Given the description of an element on the screen output the (x, y) to click on. 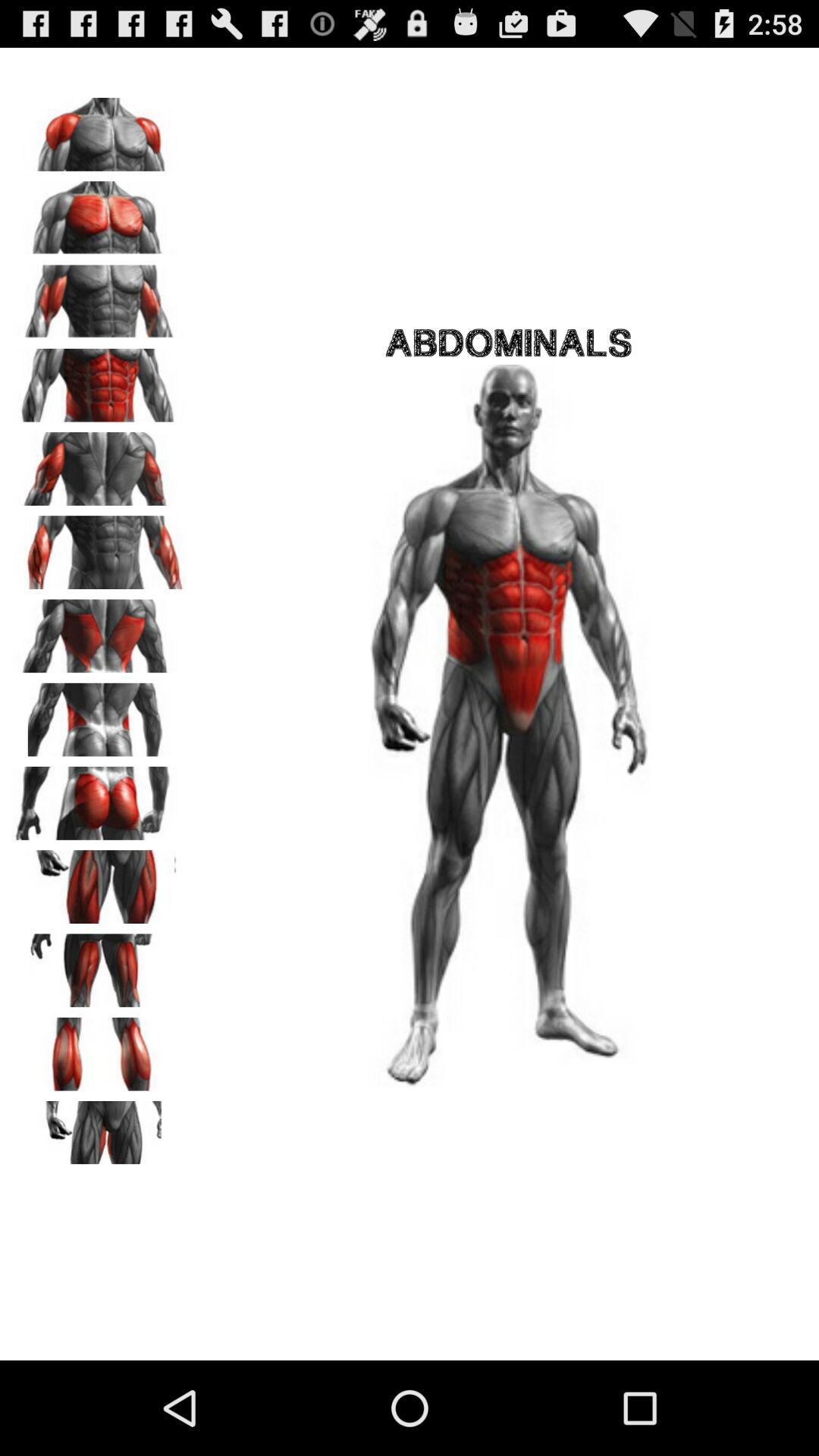
select new workout area (99, 212)
